Given the description of an element on the screen output the (x, y) to click on. 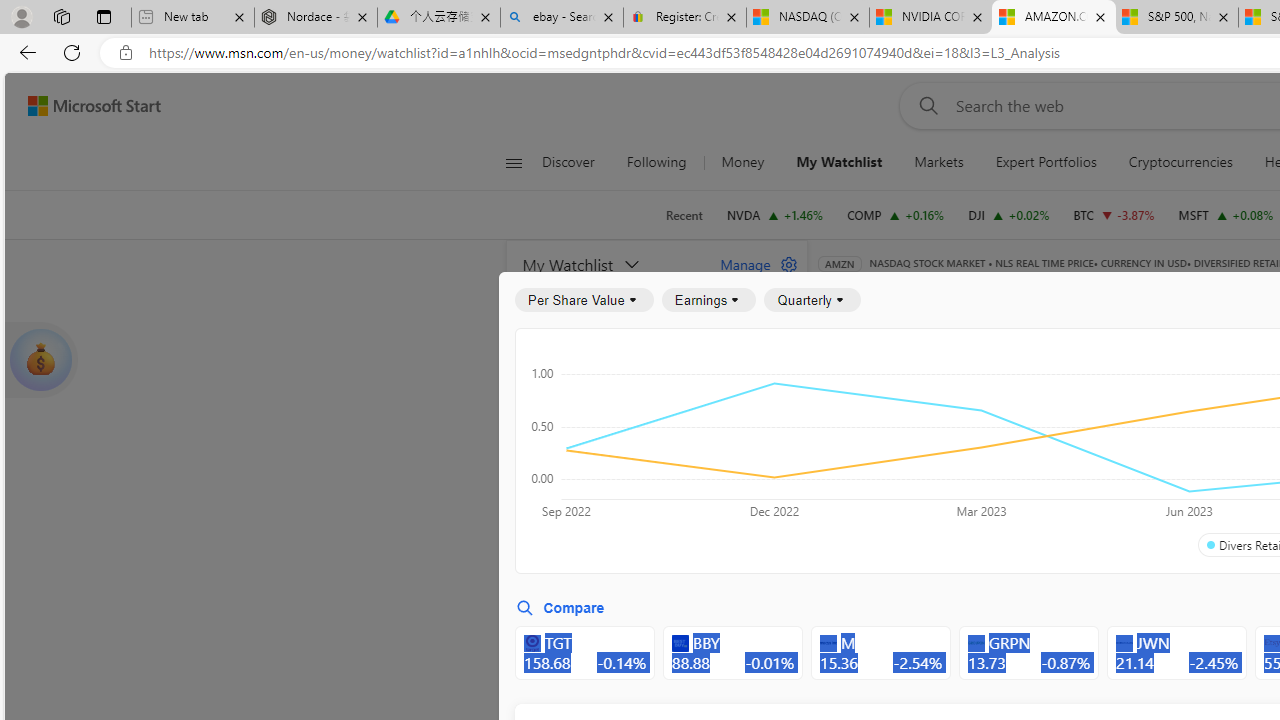
Class: button-glyph (513, 162)
BTC Bitcoin decrease 60,049.35 -2,320.91 -3.87% (1114, 214)
All (842, 445)
Register: Create a personal eBay account (684, 17)
Markets (939, 162)
Open navigation menu (513, 162)
My Watchlist (838, 162)
Annual (865, 503)
Skip to content (86, 105)
